Given the description of an element on the screen output the (x, y) to click on. 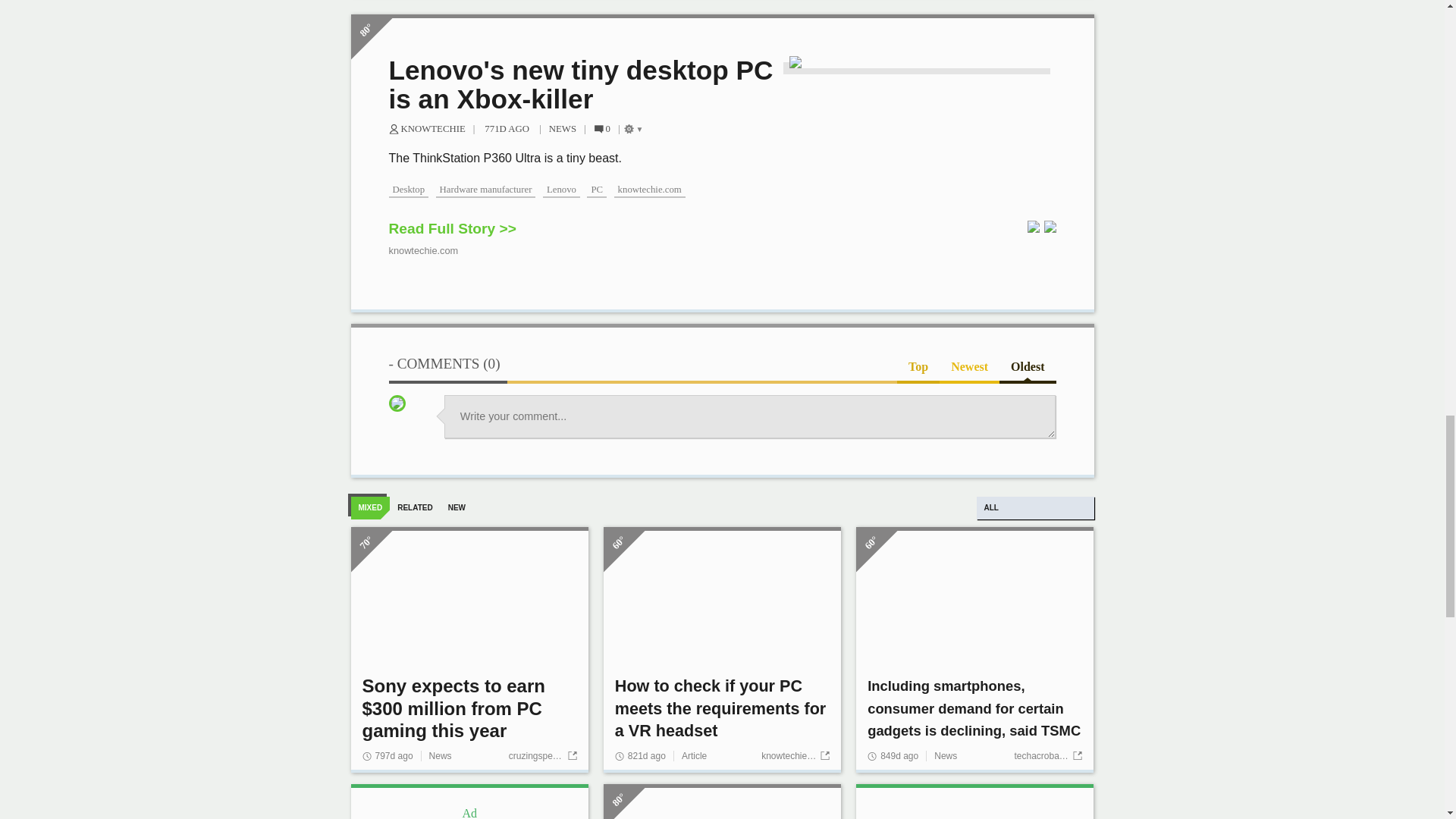
Go to source: knowtechie.com (795, 771)
Go to source: techacrobat.com (1047, 771)
Go to source: cruzingspeed.com (542, 771)
